Given the description of an element on the screen output the (x, y) to click on. 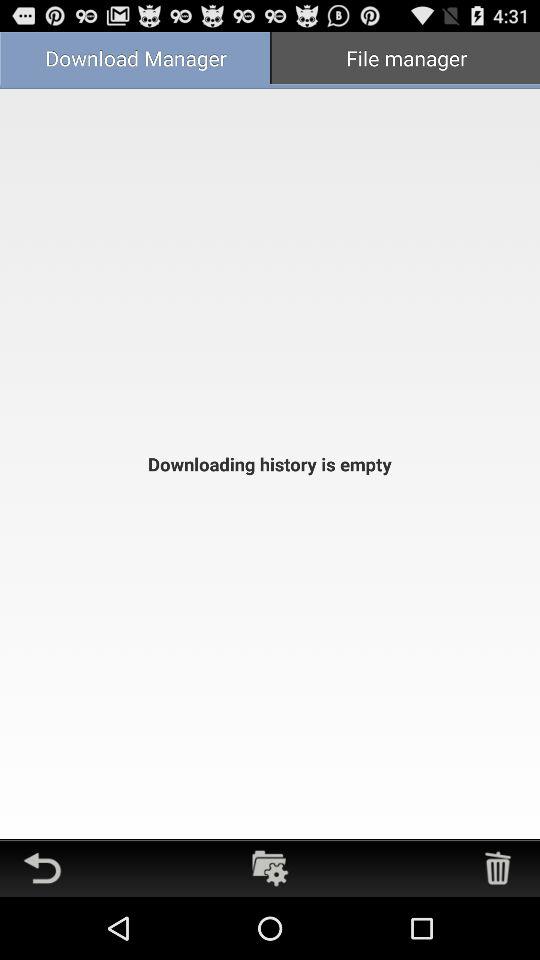
press item next to the file manager icon (135, 60)
